Given the description of an element on the screen output the (x, y) to click on. 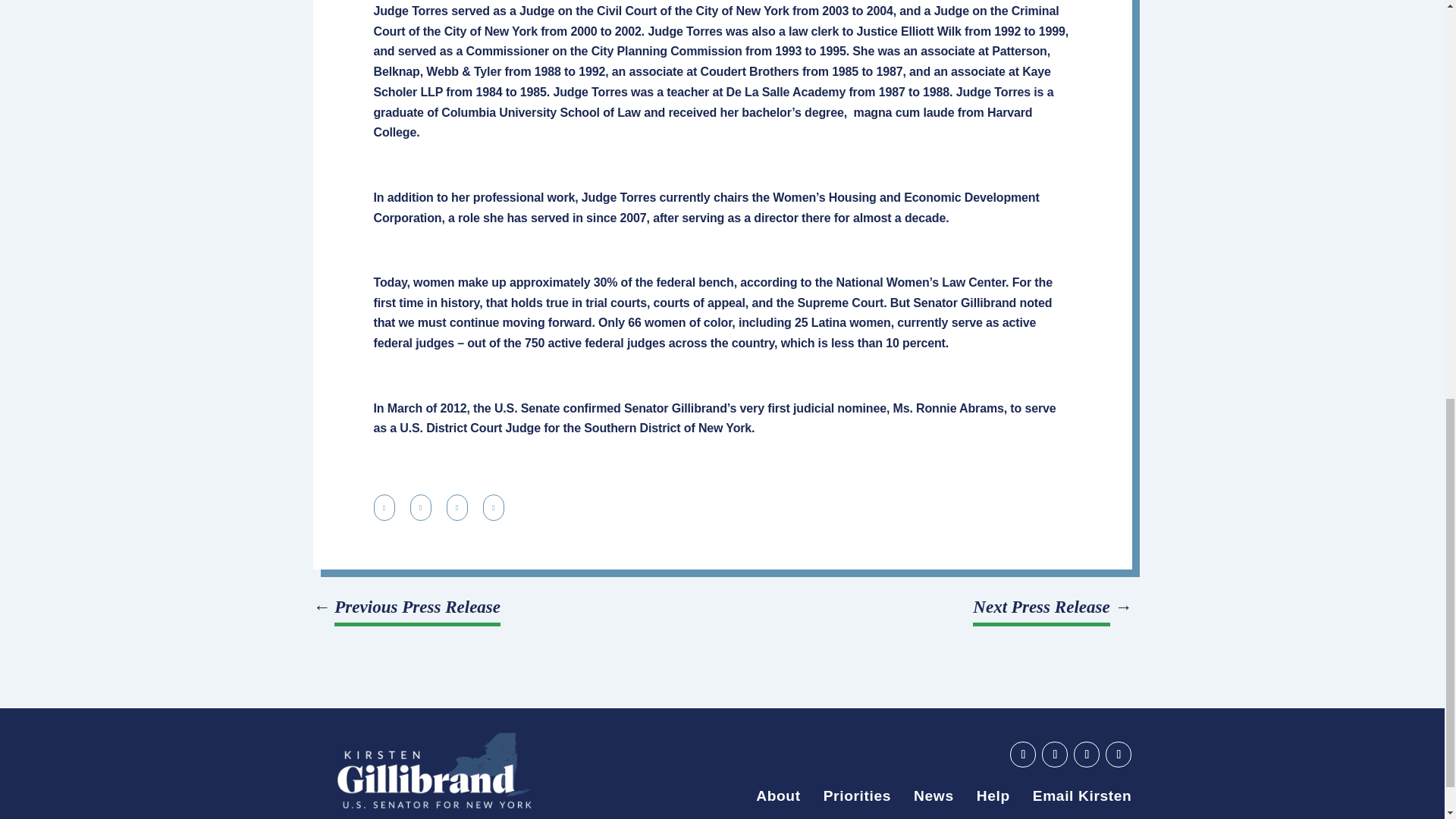
Follow on Instagram (1118, 754)
Follow on Facebook (1054, 754)
gillibrand-logo (434, 770)
Follow on Youtube (1022, 754)
Follow on Twitter (1086, 754)
